Given the description of an element on the screen output the (x, y) to click on. 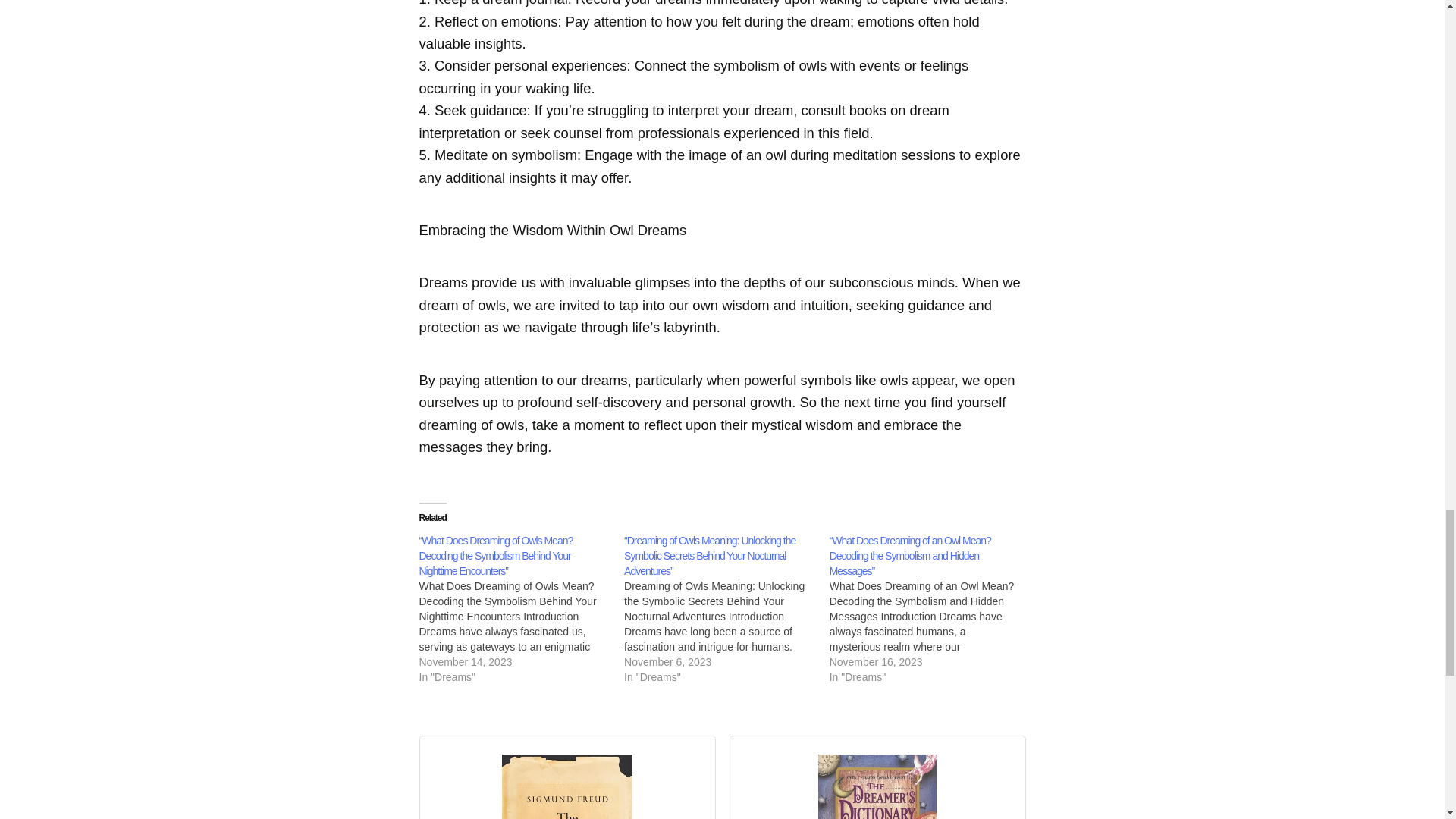
Interpretation of Dreams: The Complete and Definitive Text (567, 782)
Dreamer's Dictionary (876, 782)
